Given the description of an element on the screen output the (x, y) to click on. 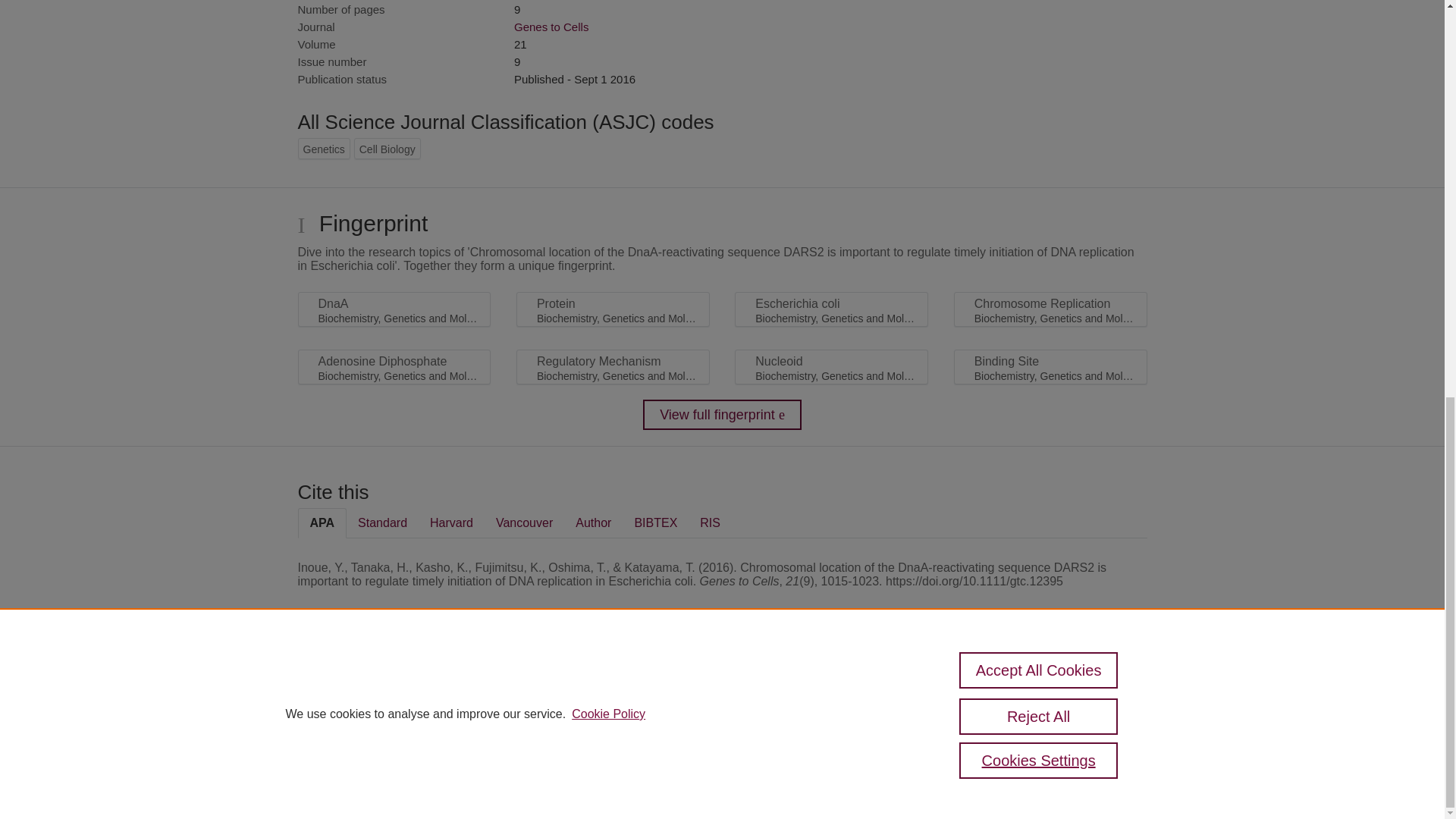
View full fingerprint (722, 414)
Scopus (394, 686)
Genes to Cells (550, 26)
Pure (362, 686)
